Given the description of an element on the screen output the (x, y) to click on. 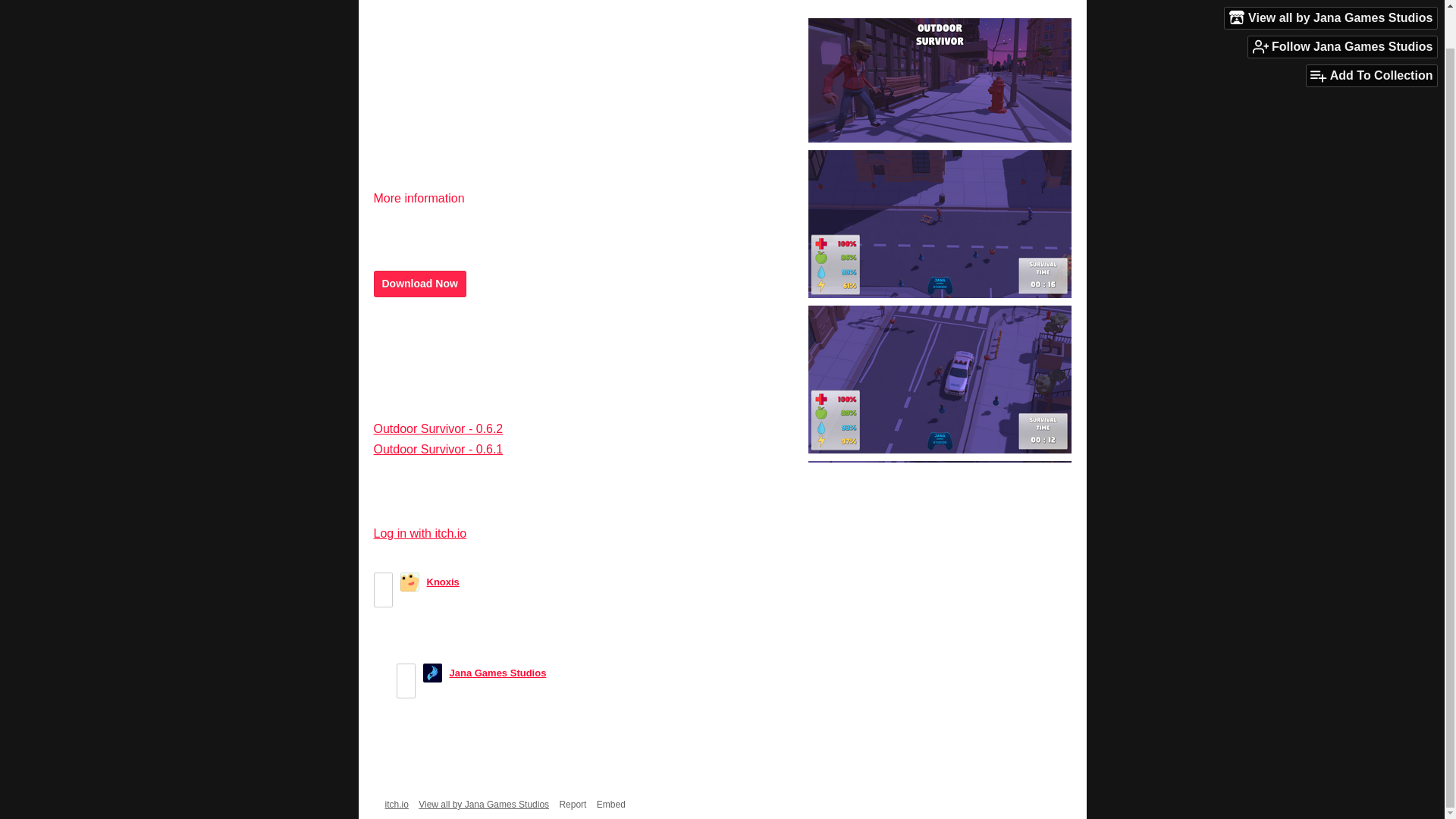
Outdoor Survivor - 0.6.1 (437, 449)
Vote down (382, 597)
Reply (435, 737)
Reply (412, 645)
4 years ago (579, 672)
Vote up (405, 672)
Jana Games Studios (497, 672)
Follow Jana Games Studios (1342, 8)
More information (424, 197)
OutdoorSurvivor-0.6.2.zip (446, 348)
Add To Collection (1371, 35)
2020-04-27 14:10:49 (492, 582)
Knoxis (442, 582)
Vote down (405, 688)
Log in with itch.io (418, 533)
